Given the description of an element on the screen output the (x, y) to click on. 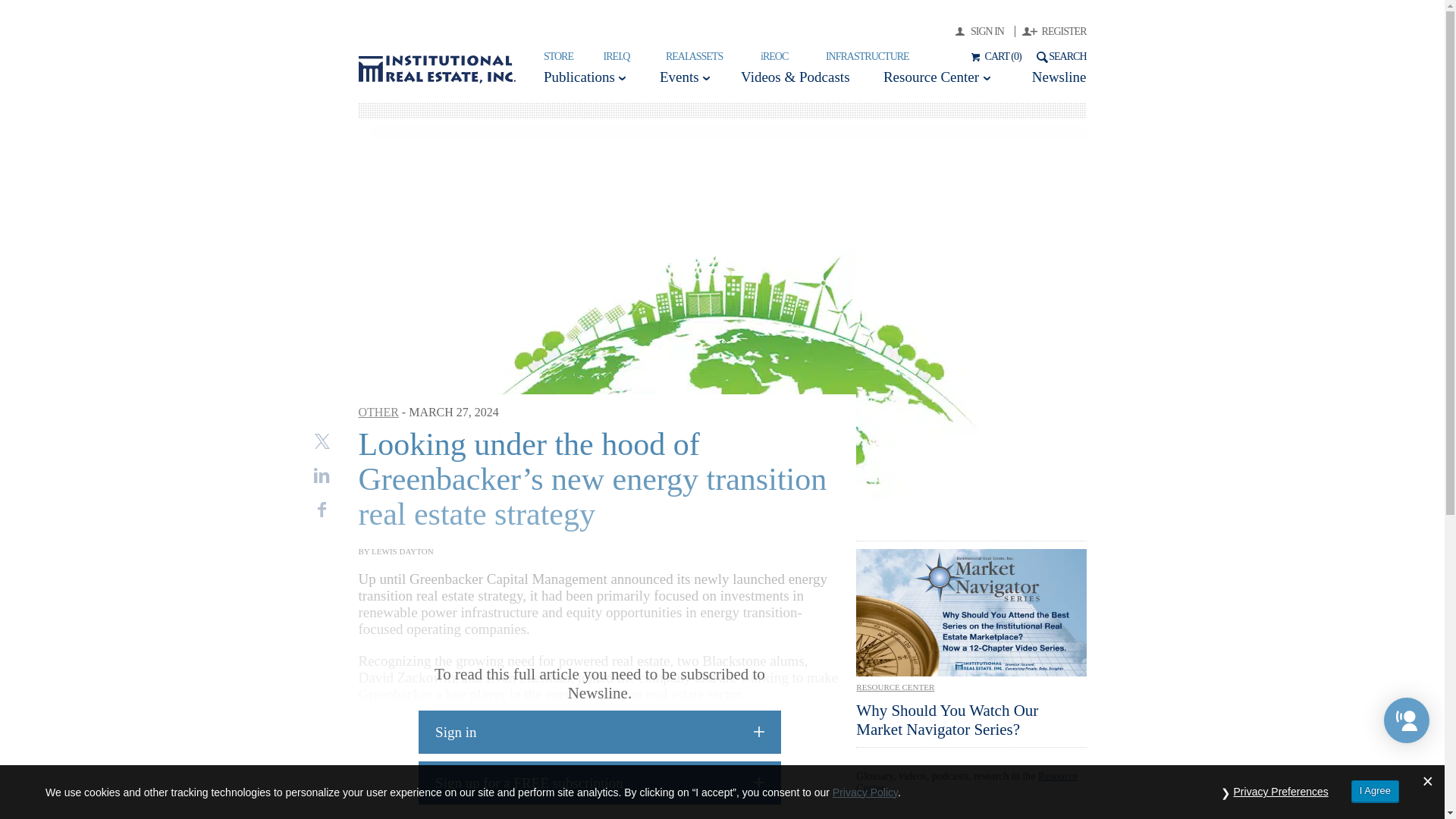
Privacy Policy (865, 791)
iREOC (773, 56)
INFRASTRUCTURE (866, 56)
REGISTER (1054, 30)
SIGN IN (984, 30)
Twitter (321, 441)
View your shopping cart (994, 56)
SEARCH (1059, 56)
LinkedIn (321, 475)
REAL ASSETS (693, 56)
IREI.Q (617, 56)
STORE (558, 56)
